Given the description of an element on the screen output the (x, y) to click on. 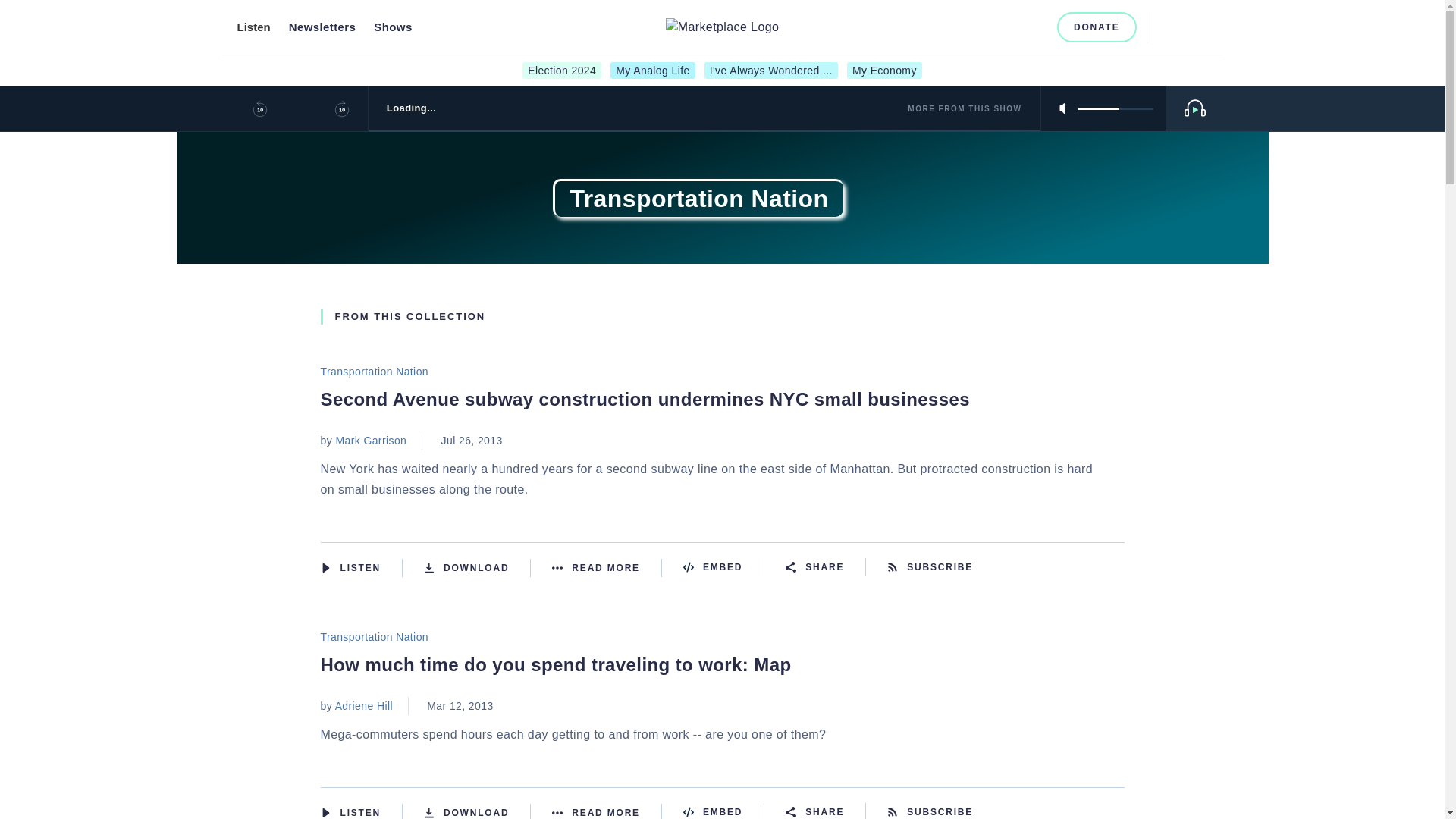
Download (477, 811)
DONATE (1097, 27)
TikTok (1035, 27)
Newsletters (322, 27)
Download (477, 566)
Facebook (962, 27)
Instagram (985, 27)
LISTEN (325, 811)
volume (1115, 108)
5 (1115, 108)
Read More (606, 811)
Shows (393, 26)
Listen (252, 26)
Listen Now (360, 566)
